Given the description of an element on the screen output the (x, y) to click on. 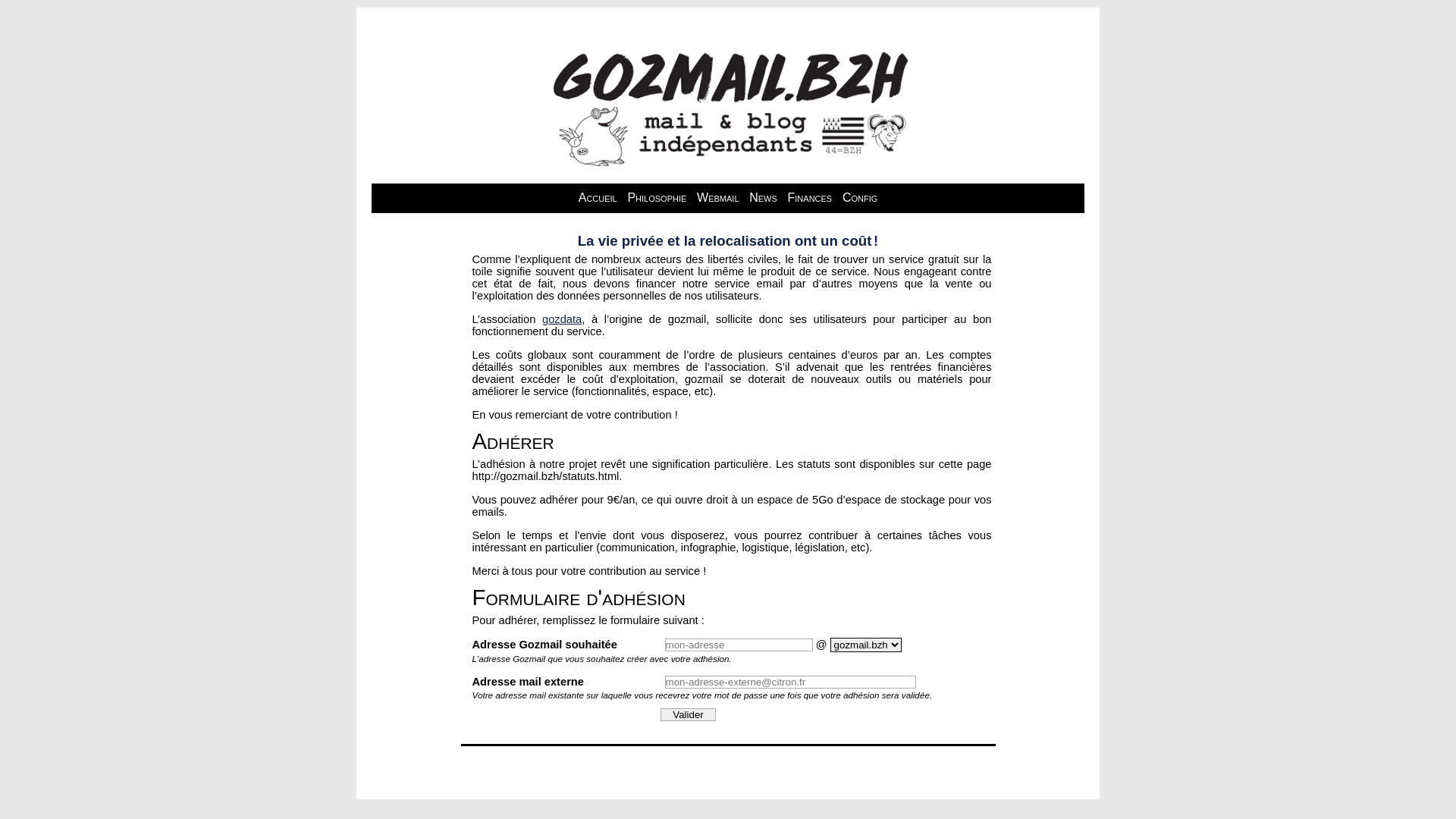
News Element type: text (763, 197)
Philosophie Element type: text (656, 197)
    Valider     Element type: text (687, 714)
Accueil Element type: text (597, 197)
Config Element type: text (859, 197)
gozdata Element type: text (561, 319)
Finances Element type: text (810, 197)
Webmail Element type: text (717, 197)
